Given the description of an element on the screen output the (x, y) to click on. 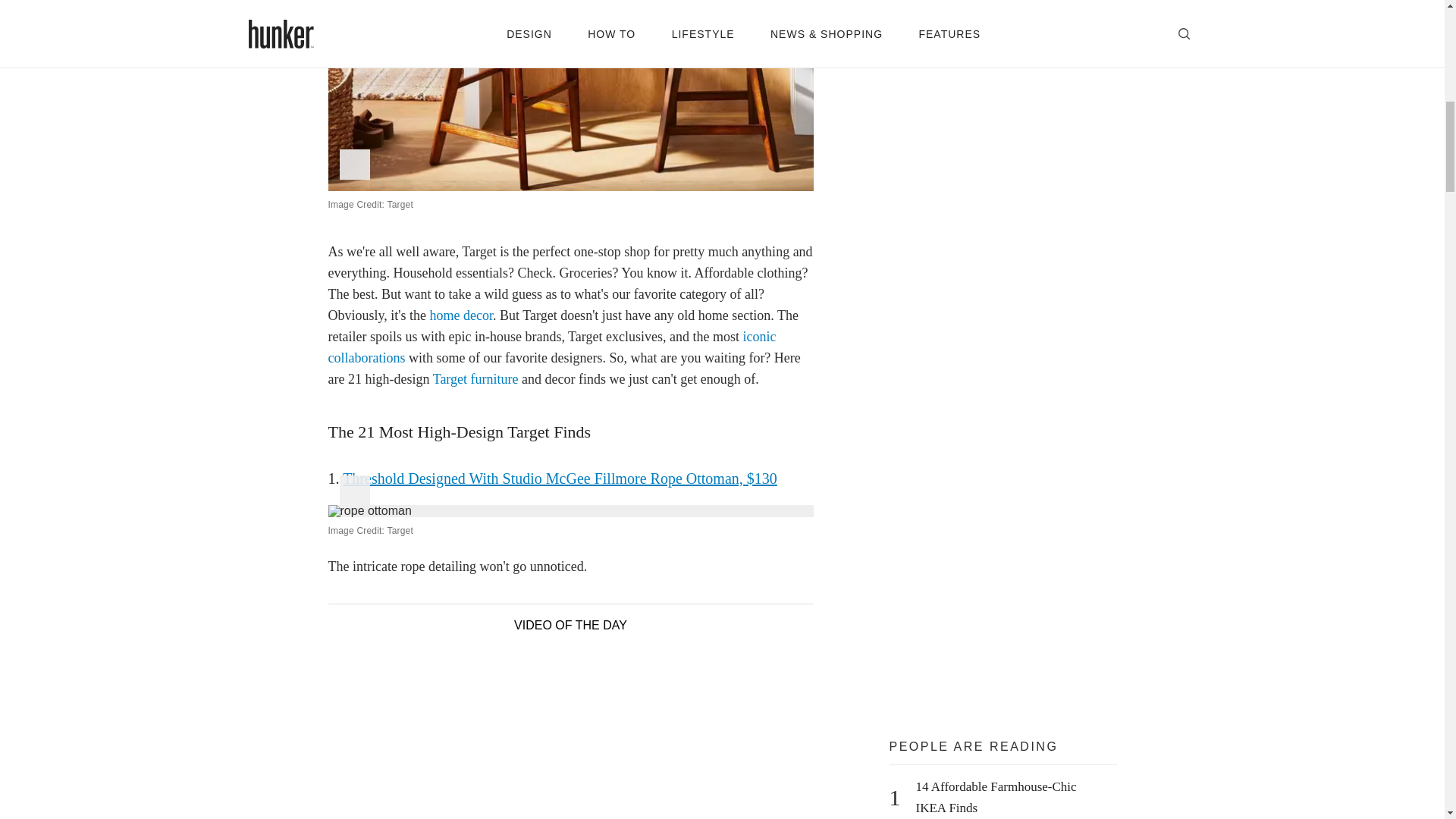
14 Affordable Farmhouse-Chic IKEA Finds (1012, 797)
